Given the description of an element on the screen output the (x, y) to click on. 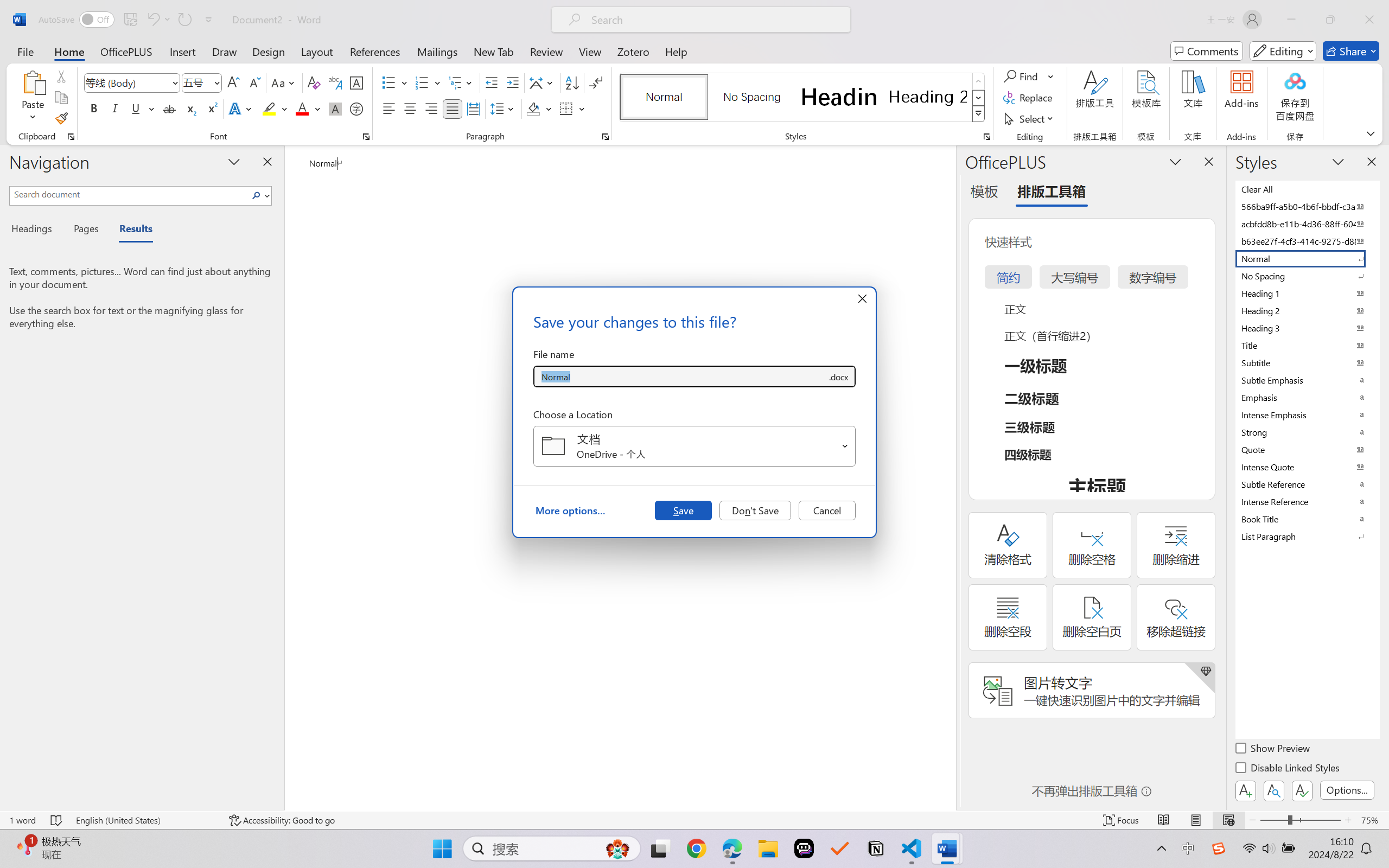
Clear All (1306, 188)
Book Title (1306, 518)
Decrease Indent (491, 82)
Cancel (826, 509)
Focus  (1121, 819)
AutomationID: QuickStylesGallery (802, 97)
Help (675, 51)
List Paragraph (1306, 536)
AutomationID: BadgeAnchorLargeTicker (24, 847)
